Given the description of an element on the screen output the (x, y) to click on. 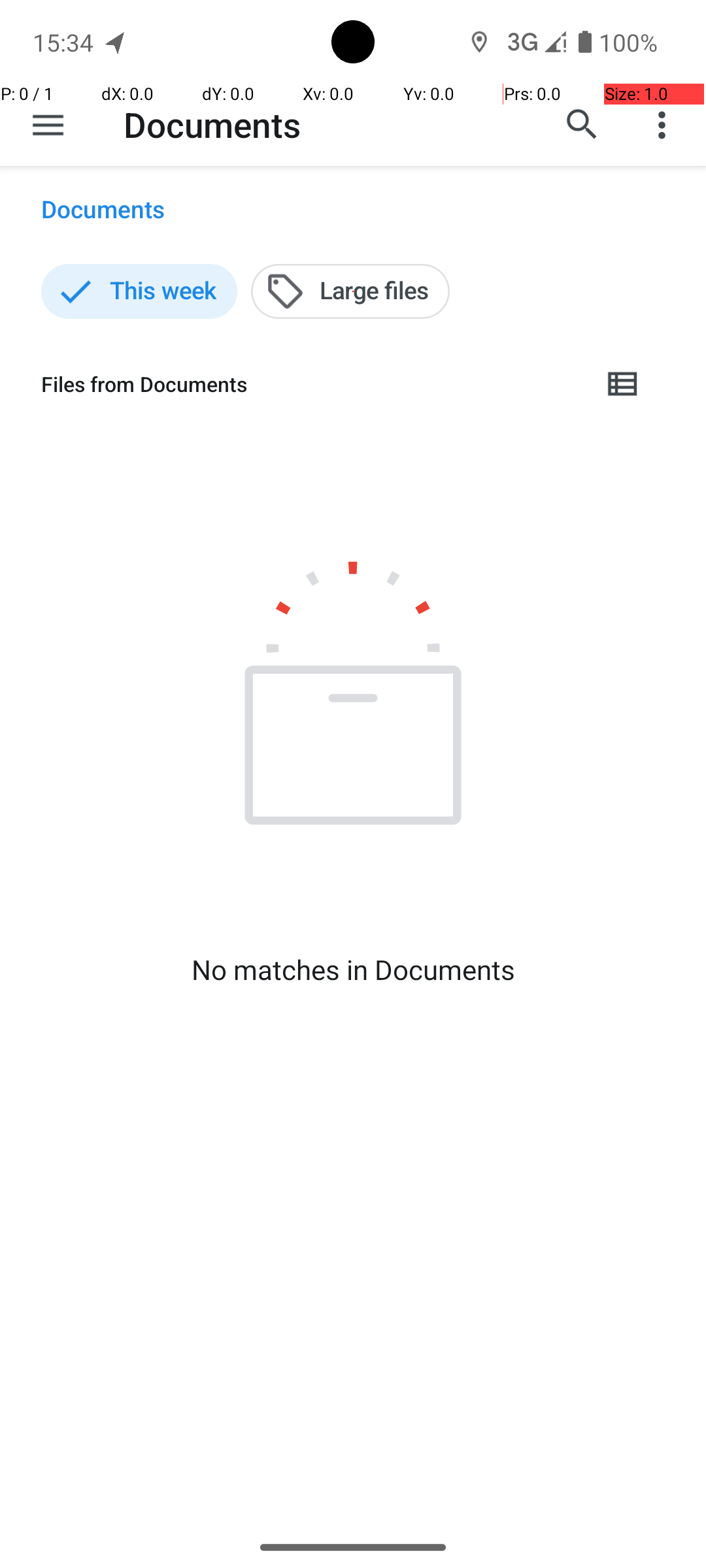
Files from Documents Element type: android.widget.TextView (311, 383)
No matches in Documents Element type: android.widget.TextView (352, 968)
